Given the description of an element on the screen output the (x, y) to click on. 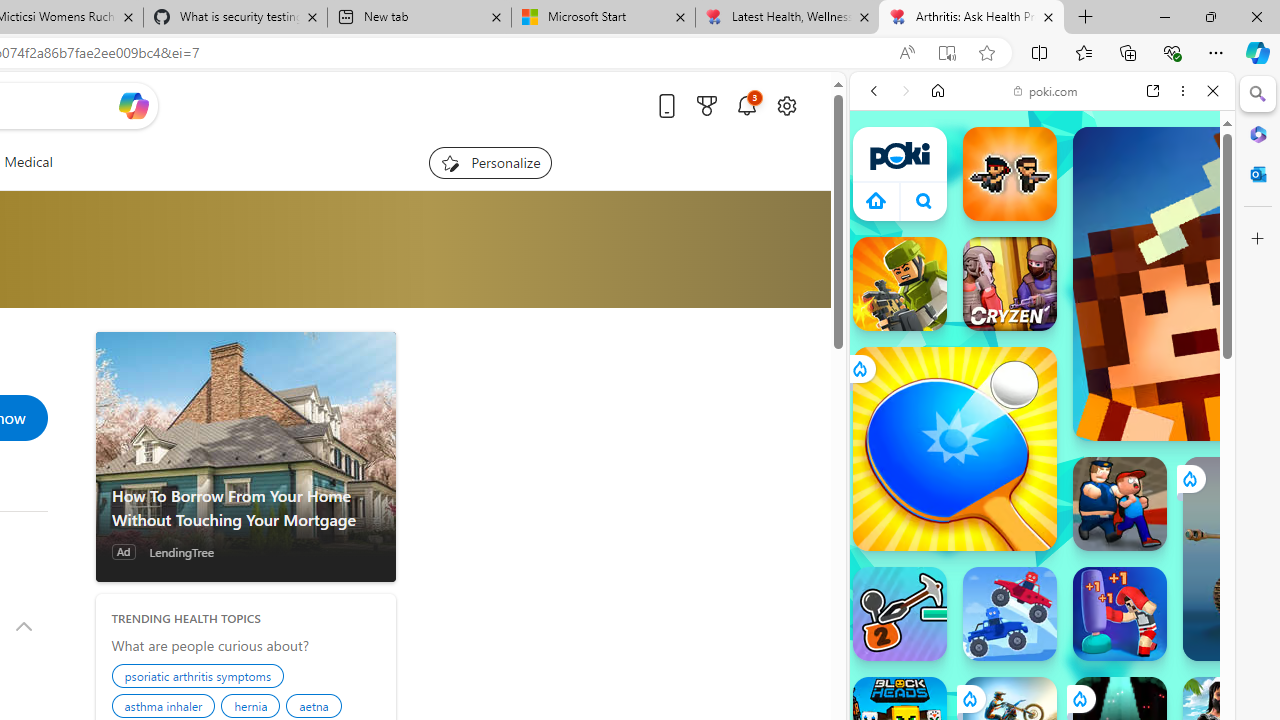
Io Games (1042, 616)
psoriatic arthritis symptoms (200, 678)
Show More Shooting Games (1164, 521)
Show More Car Games (1164, 472)
Poki (1034, 288)
